Given the description of an element on the screen output the (x, y) to click on. 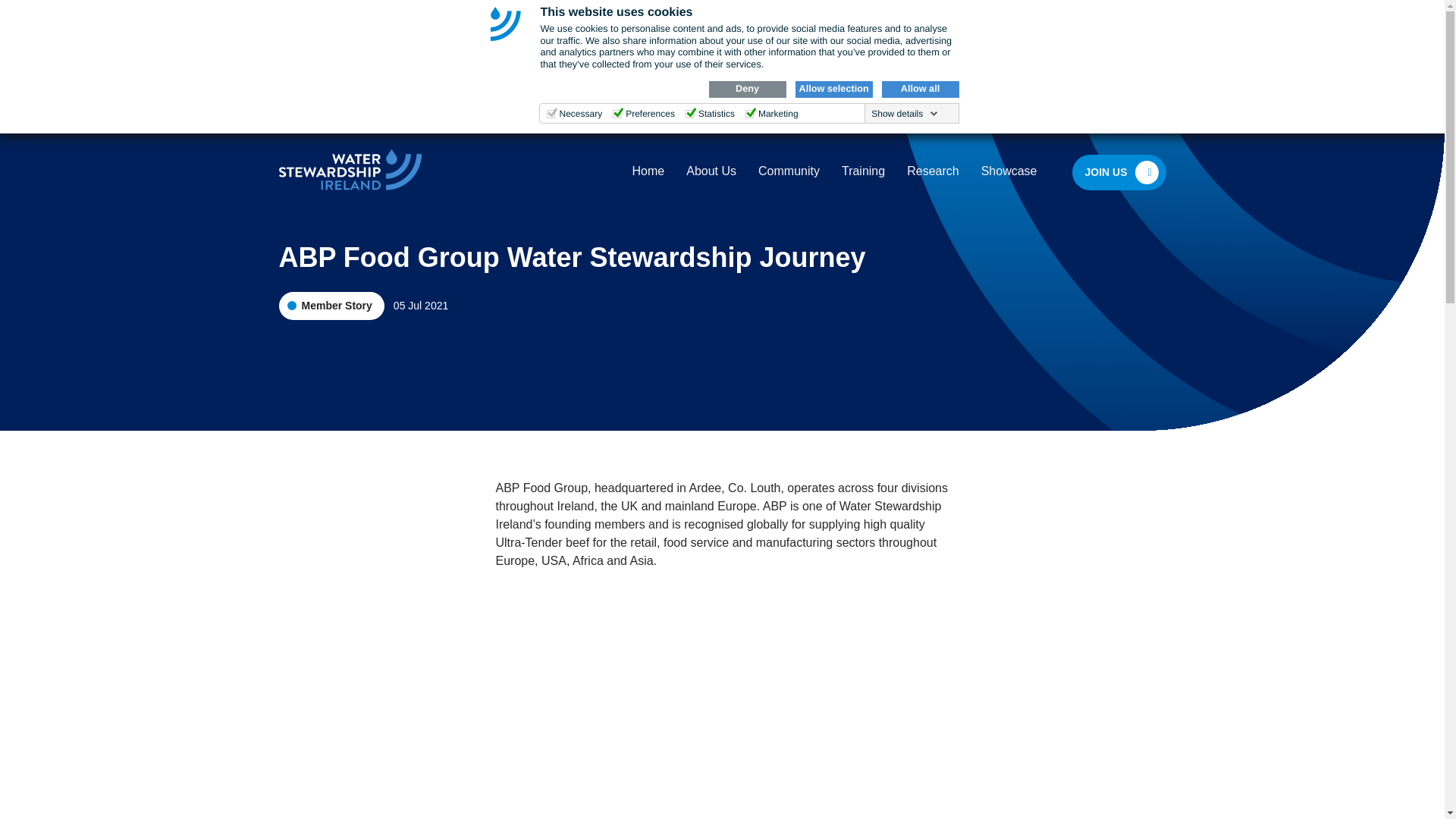
Allow all (919, 89)
Allow selection (833, 89)
Deny (746, 89)
Show details (903, 113)
